Given the description of an element on the screen output the (x, y) to click on. 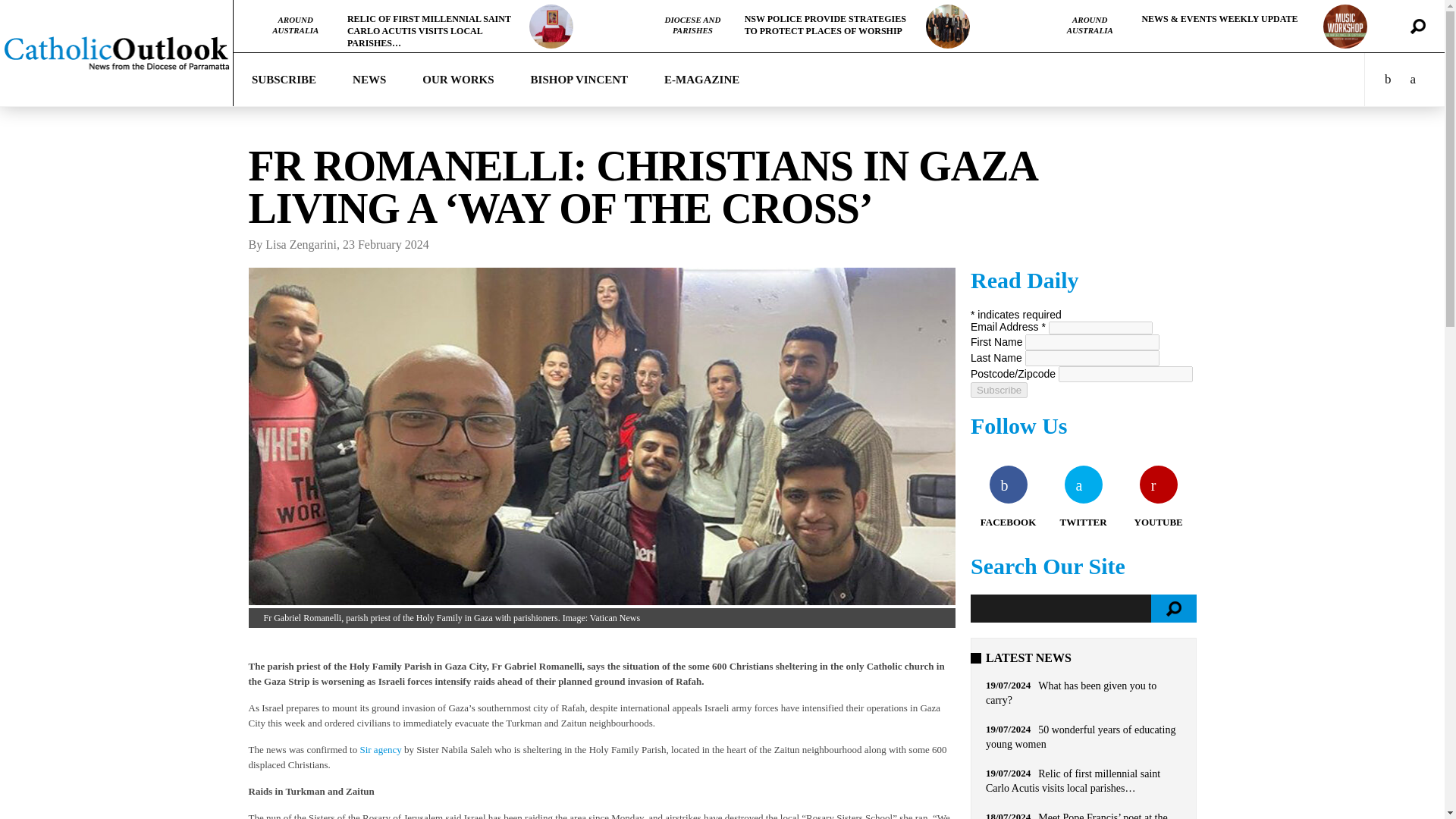
DIOCESE AND PARISHES (691, 25)
SUBSCRIBE (283, 79)
Subscribe (283, 79)
OUR WORKS (458, 79)
BISHOP VINCENT (579, 79)
Around Australia (295, 25)
AROUND AUSTRALIA (295, 25)
NEWS (369, 79)
Diocese and Parishes (691, 25)
NSW POLICE PROVIDE STRATEGIES TO PROTECT PLACES OF WORSHIP   (825, 24)
Around Australia (1090, 25)
Subscribe (999, 390)
